Given the description of an element on the screen output the (x, y) to click on. 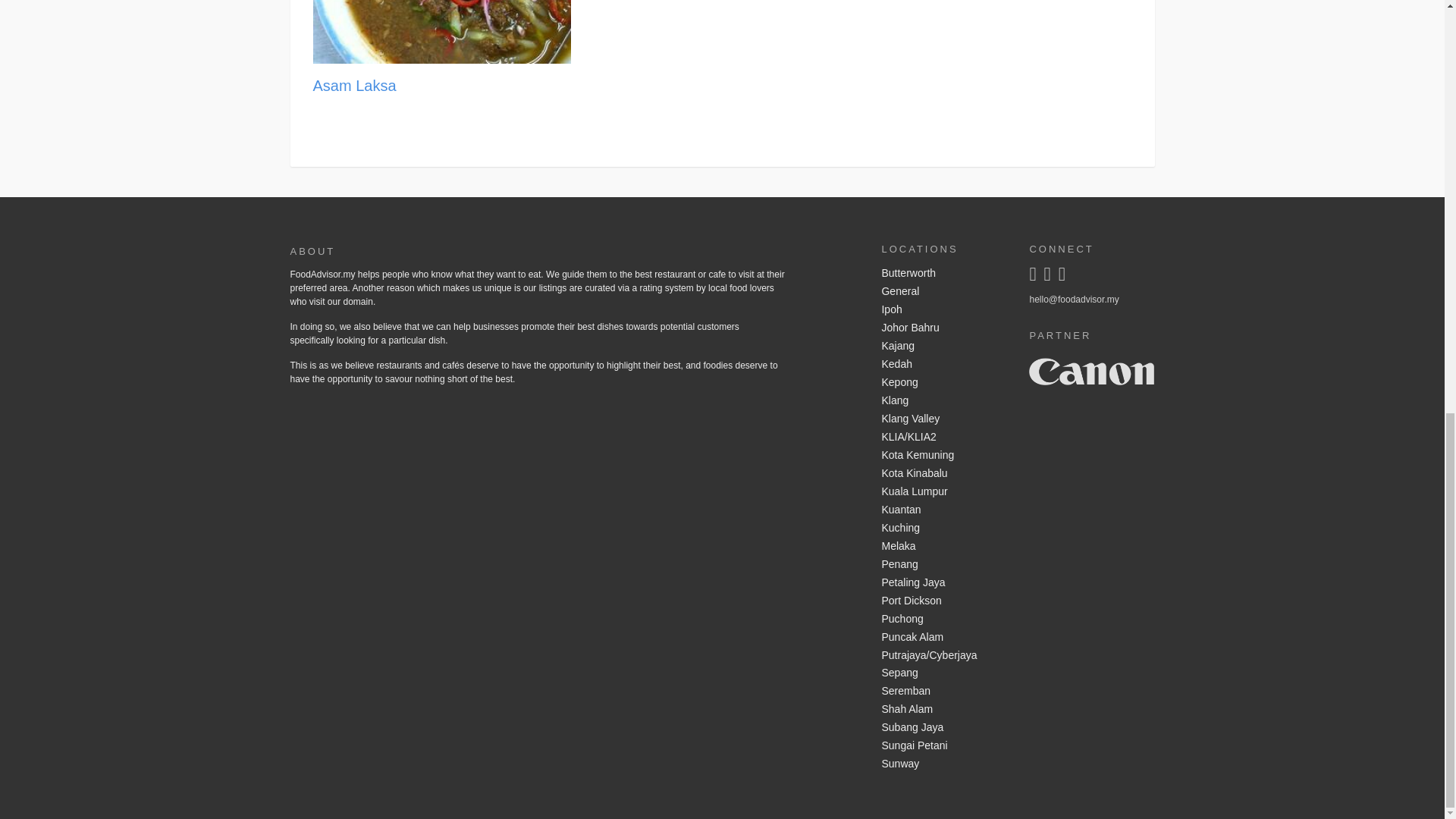
Butterworth (943, 273)
Kedah (943, 364)
Kota Kemuning (943, 455)
Ipoh (943, 310)
Klang Valley (943, 419)
Kuantan (943, 510)
Johor Bahru (943, 328)
General (943, 291)
Kepong (943, 382)
Asam Laksa (354, 85)
Klang (943, 401)
Kuala Lumpur (943, 492)
Kajang (943, 346)
Kota Kinabalu (943, 474)
